Given the description of an element on the screen output the (x, y) to click on. 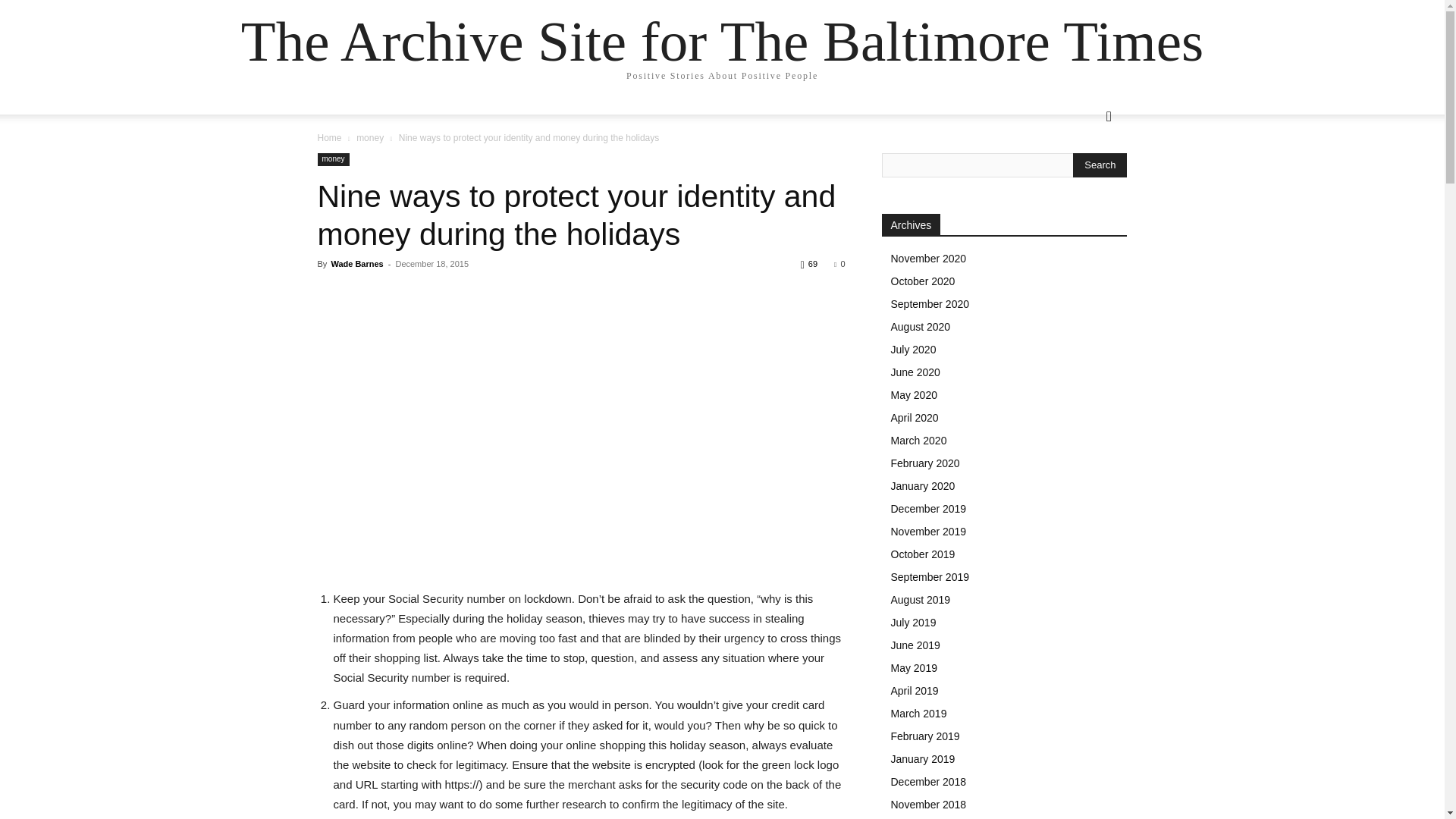
May 2020 (912, 395)
August 2020 (919, 326)
View all posts in money (370, 137)
Search (1085, 177)
June 2020 (914, 372)
The Archive Site for The Baltimore Times (722, 41)
October 2020 (922, 281)
Home (328, 137)
November 2020 (927, 258)
July 2020 (912, 349)
